Given the description of an element on the screen output the (x, y) to click on. 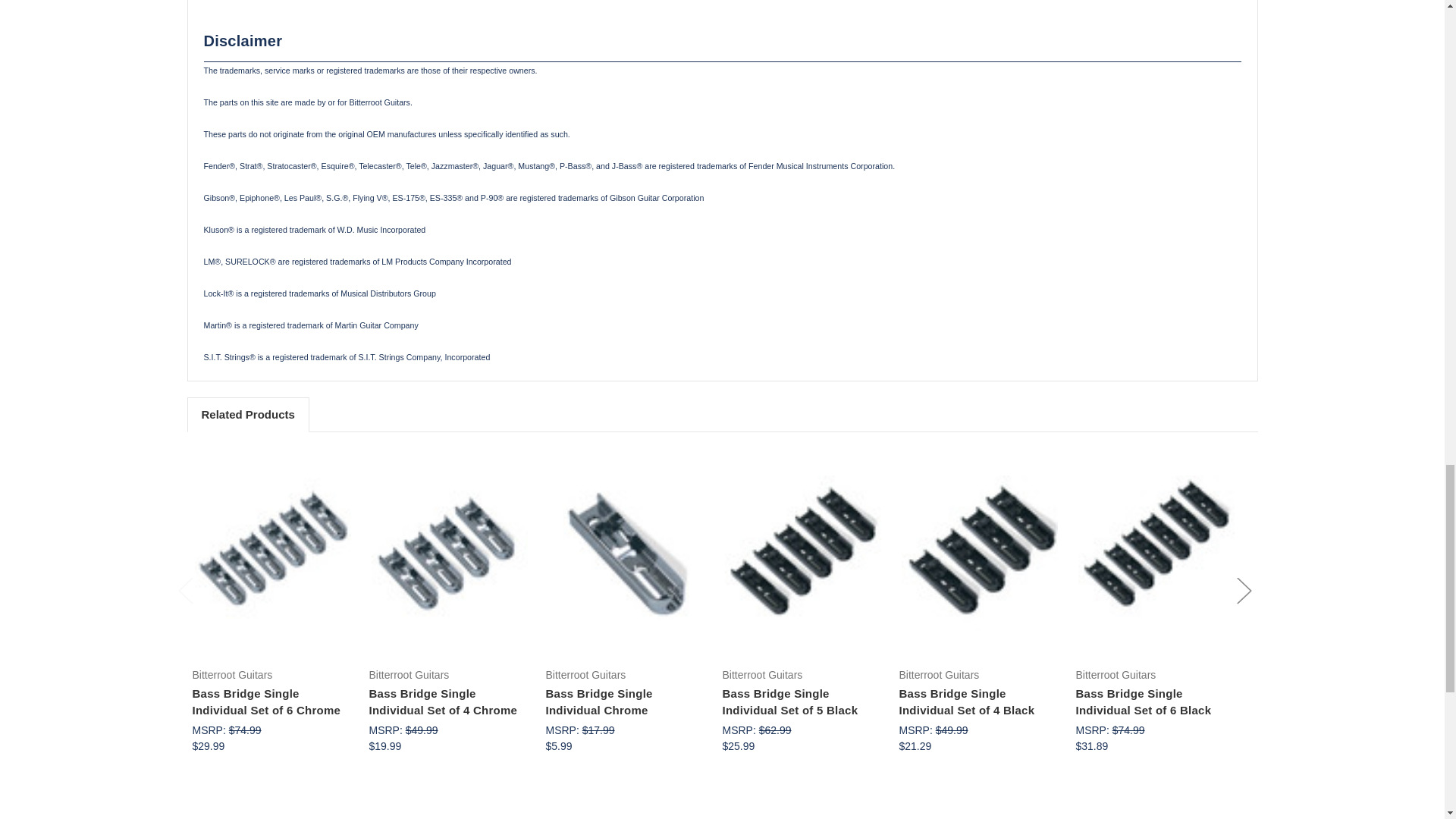
Bass Bridge Single Individual Set of 6 Chrome (271, 553)
Bass Bridge Single Individual Chrome (625, 553)
Bass Bridge Single Individual Set of 4 Chrome (449, 553)
